Given the description of an element on the screen output the (x, y) to click on. 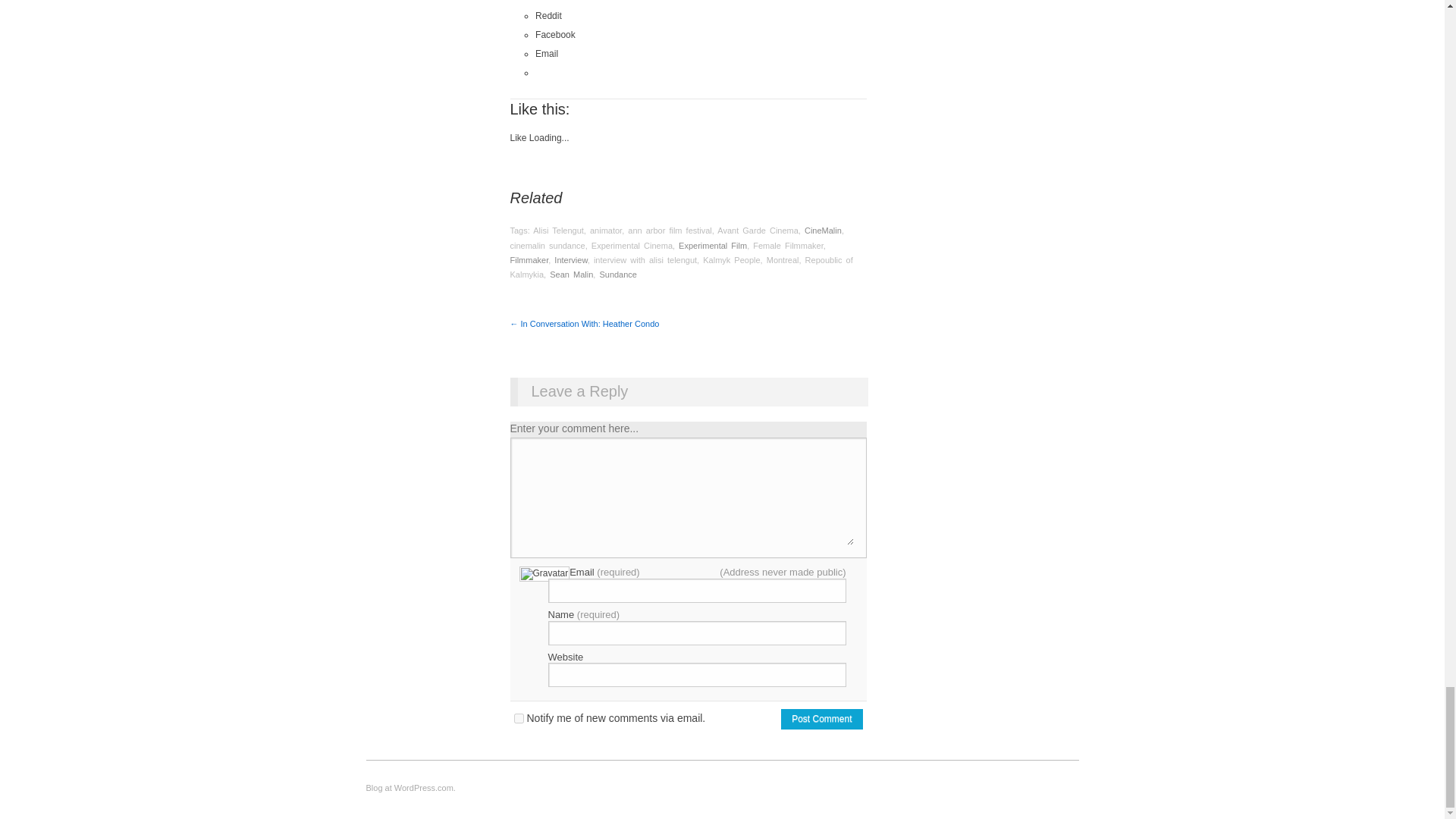
Enter your comment here... (687, 497)
Filmmaker (528, 259)
Post Comment (820, 719)
CineMalin (823, 230)
Experimental Film (712, 245)
Sundance (617, 274)
Post Comment (820, 719)
Interview (570, 259)
Sean Malin (571, 274)
subscribe (518, 718)
